Given the description of an element on the screen output the (x, y) to click on. 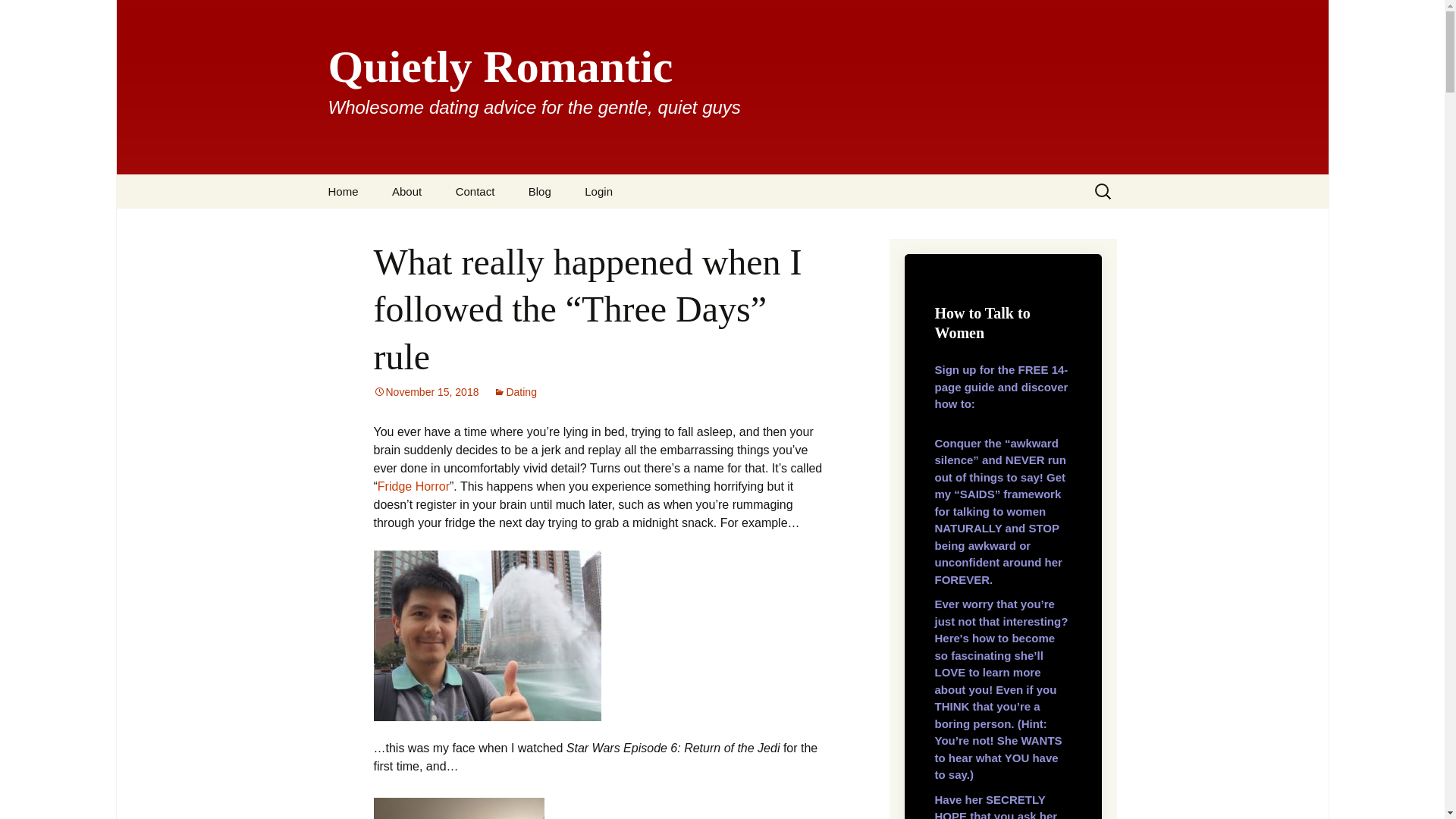
Dating (514, 391)
About (406, 191)
Login (598, 191)
Fridge Horror (413, 486)
Blog (539, 191)
Home (342, 191)
Contact (476, 191)
November 15, 2018 (425, 391)
Search (18, 15)
